Given the description of an element on the screen output the (x, y) to click on. 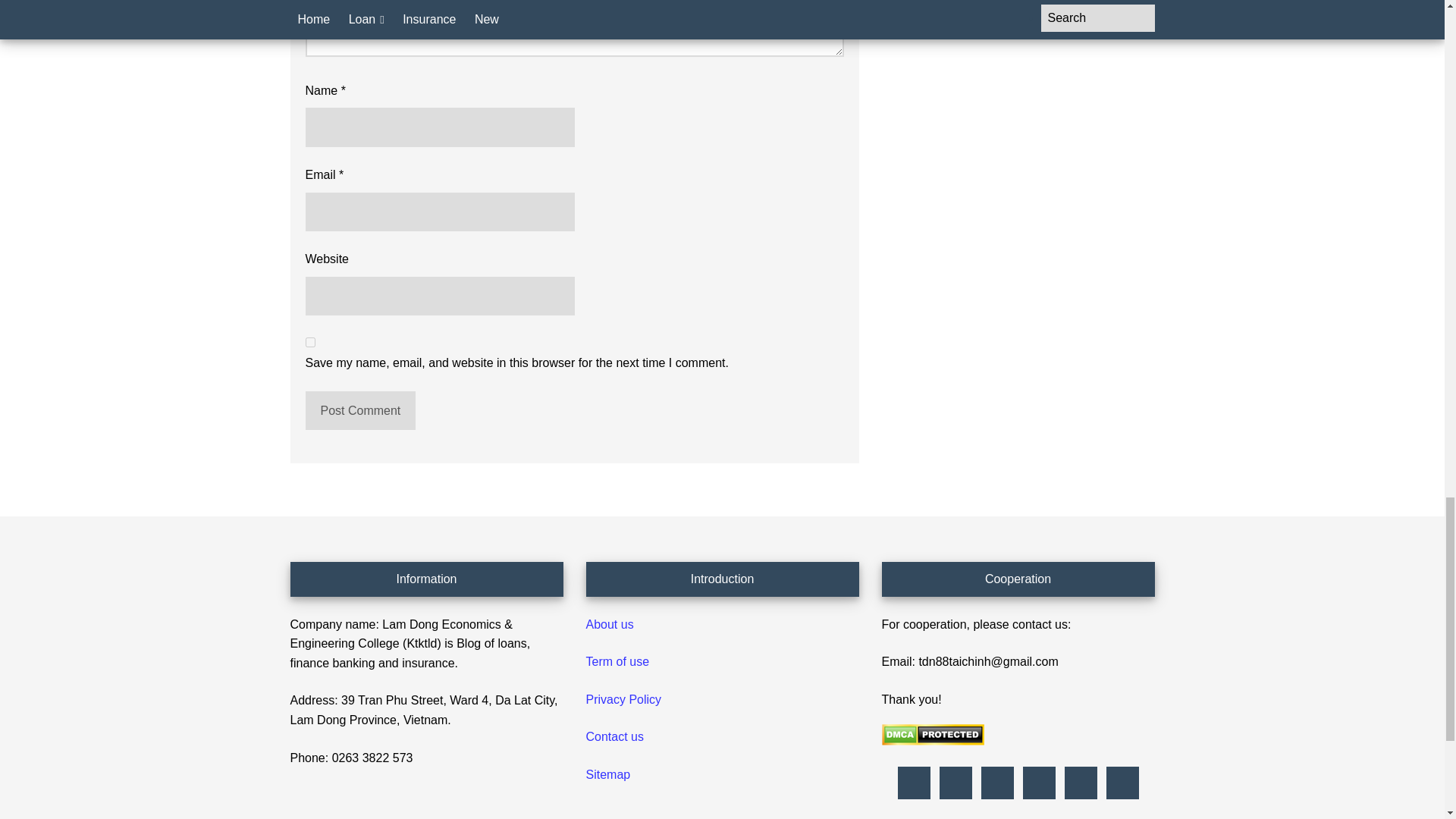
Post Comment (359, 410)
yes (309, 342)
Pinterest (955, 782)
DMCA.com Protection Status (932, 740)
Flickr (913, 782)
Tumblr (1038, 782)
YouTube (1123, 782)
Reddit (996, 782)
Post Comment (359, 410)
Twitter (1079, 782)
